Given the description of an element on the screen output the (x, y) to click on. 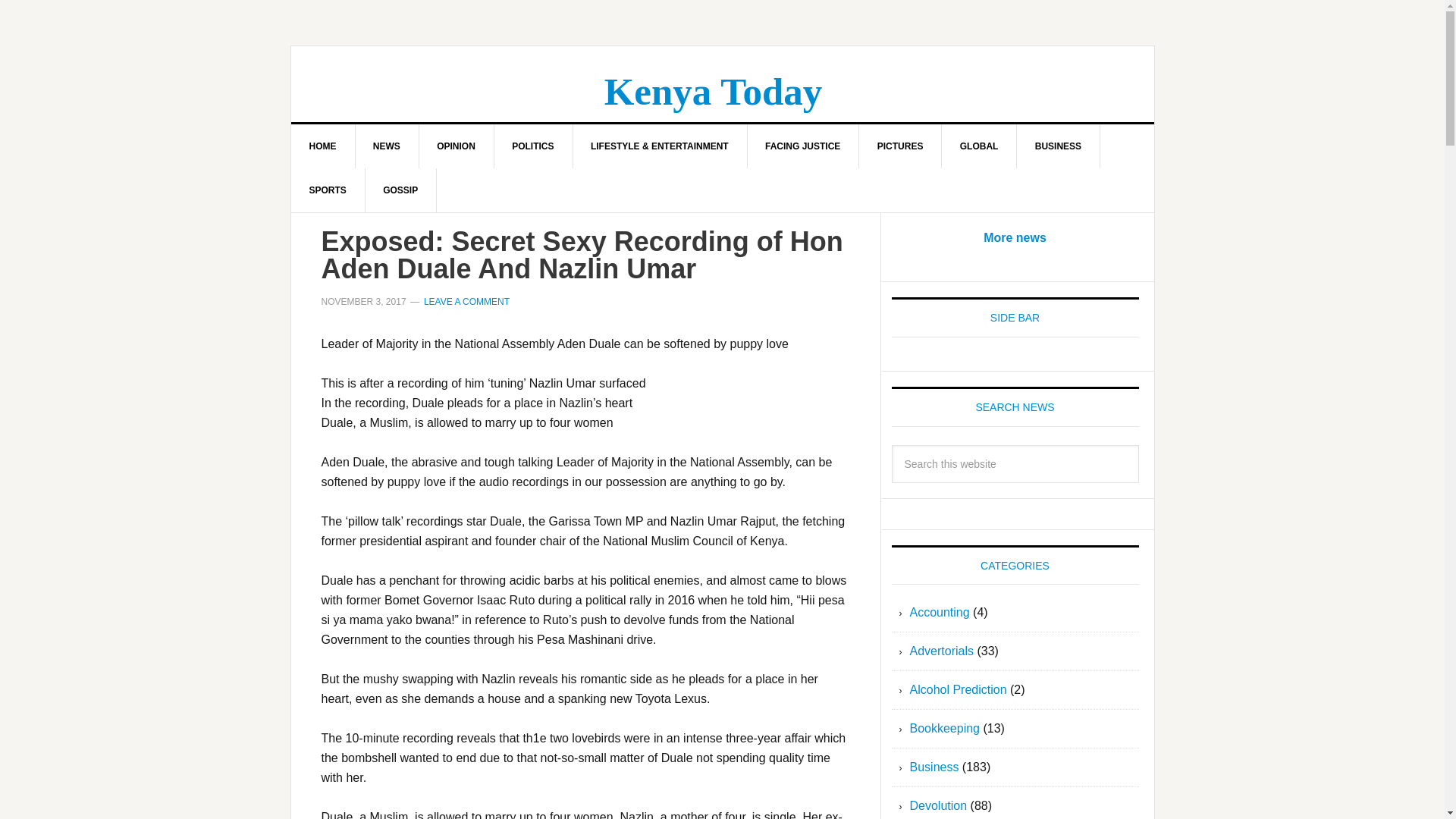
GLOBAL (979, 146)
Advertorials (942, 650)
Devolution (939, 805)
OPINION (457, 146)
HOME (323, 146)
POLITICS (532, 146)
GOSSIP (400, 190)
Kenya Today (713, 91)
